Given the description of an element on the screen output the (x, y) to click on. 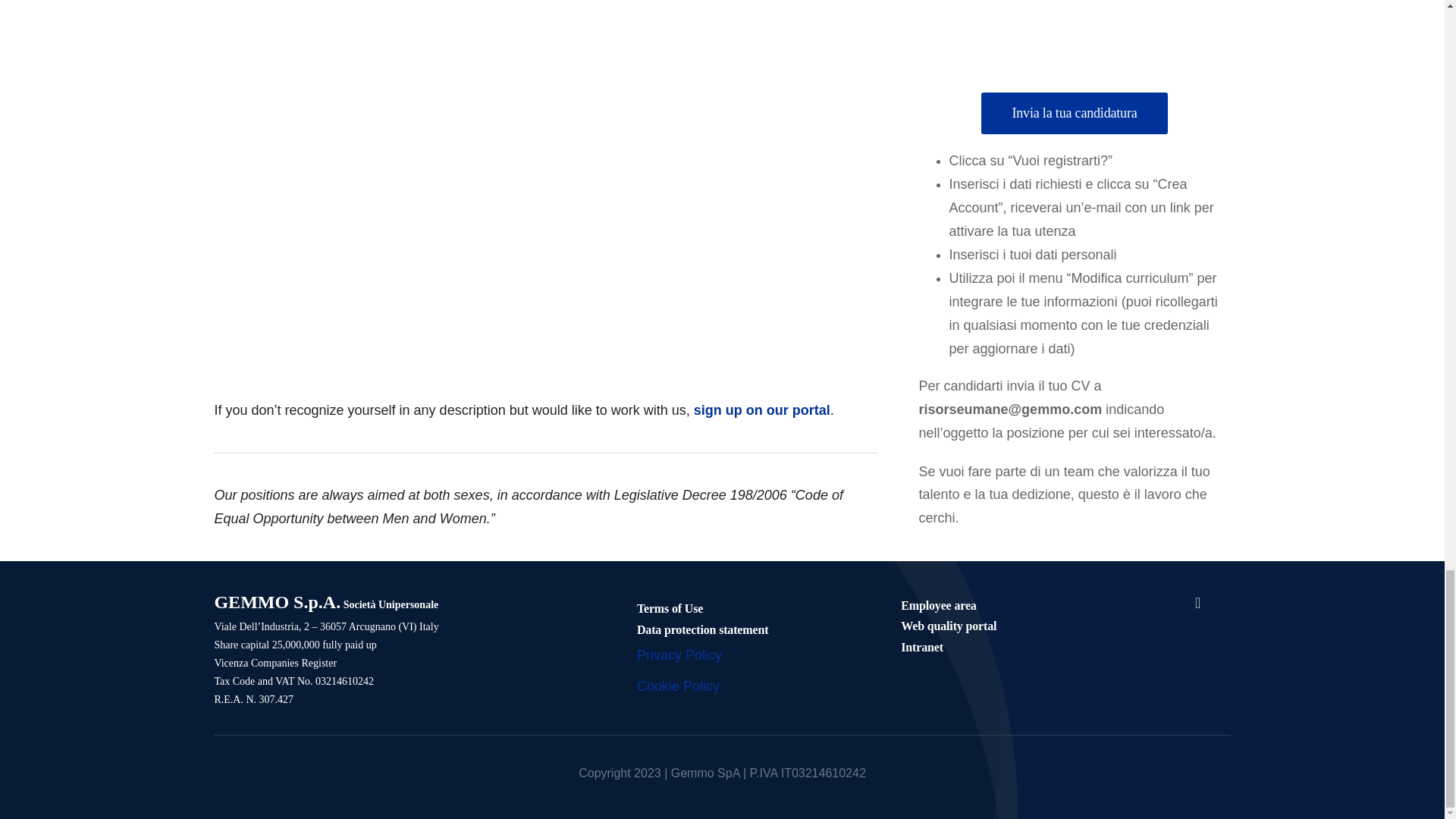
Cookie Policy  (678, 686)
Privacy Policy  (679, 655)
